Given the description of an element on the screen output the (x, y) to click on. 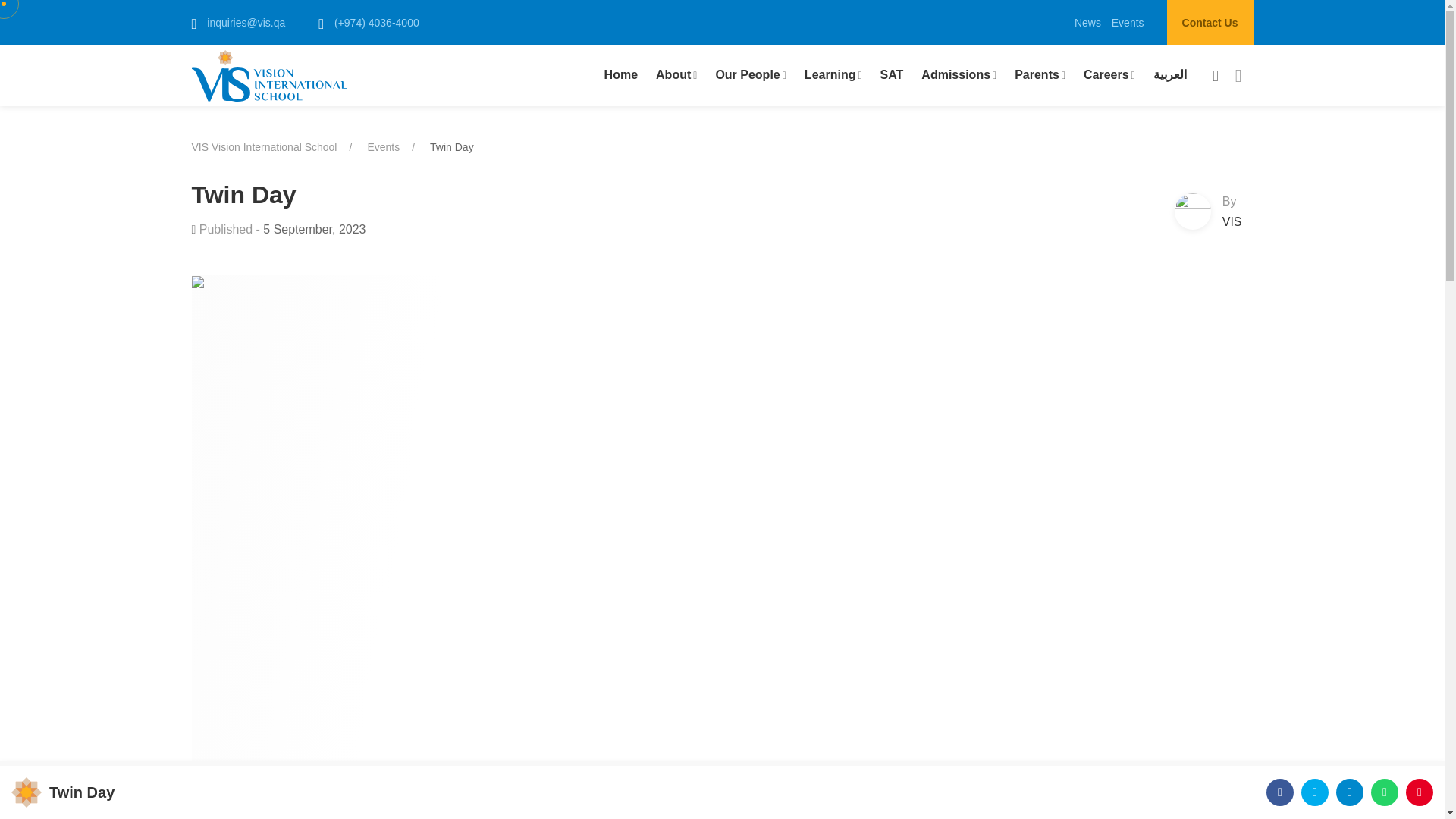
Learning (830, 74)
Events (382, 146)
Share on Facebook (1280, 791)
News (1087, 22)
Contact Us (1210, 22)
Share on Telegram (1349, 791)
Share by Email (1419, 791)
Our People (746, 74)
SAT (892, 74)
Twin Day (451, 146)
